Given the description of an element on the screen output the (x, y) to click on. 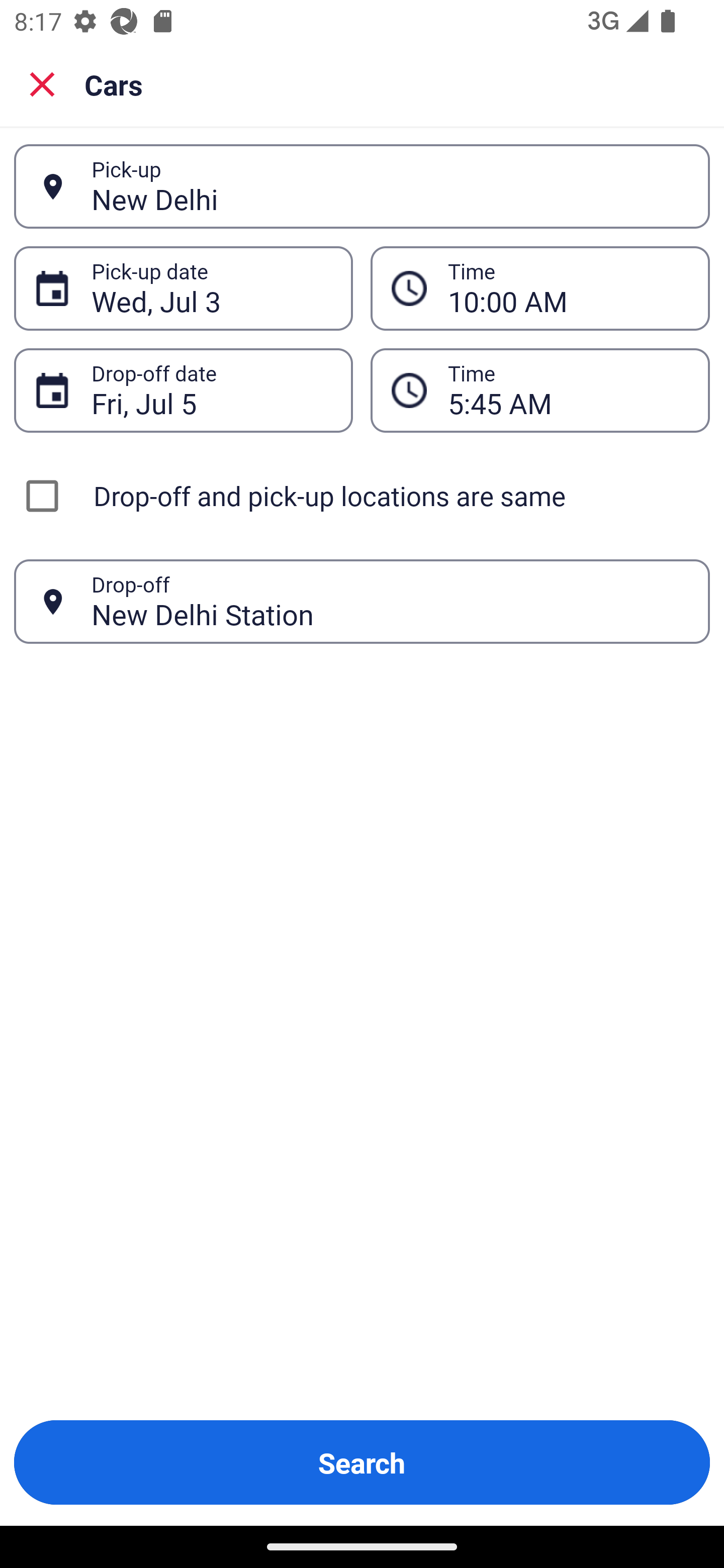
Close search screen (42, 84)
Close search screen (41, 83)
New Delhi Pick-up (361, 186)
New Delhi (389, 186)
Wed, Jul 3 Pick-up date (183, 288)
10:00 AM (540, 288)
Wed, Jul 3 (211, 288)
10:00 AM (568, 288)
Fri, Jul 5 Drop-off date (183, 390)
5:45 AM (540, 390)
Fri, Jul 5 (211, 390)
5:45 AM (568, 390)
Drop-off and pick-up locations are same (361, 495)
New Delhi Station Drop-off (361, 601)
New Delhi Station (389, 601)
Search Button Search (361, 1462)
